Given the description of an element on the screen output the (x, y) to click on. 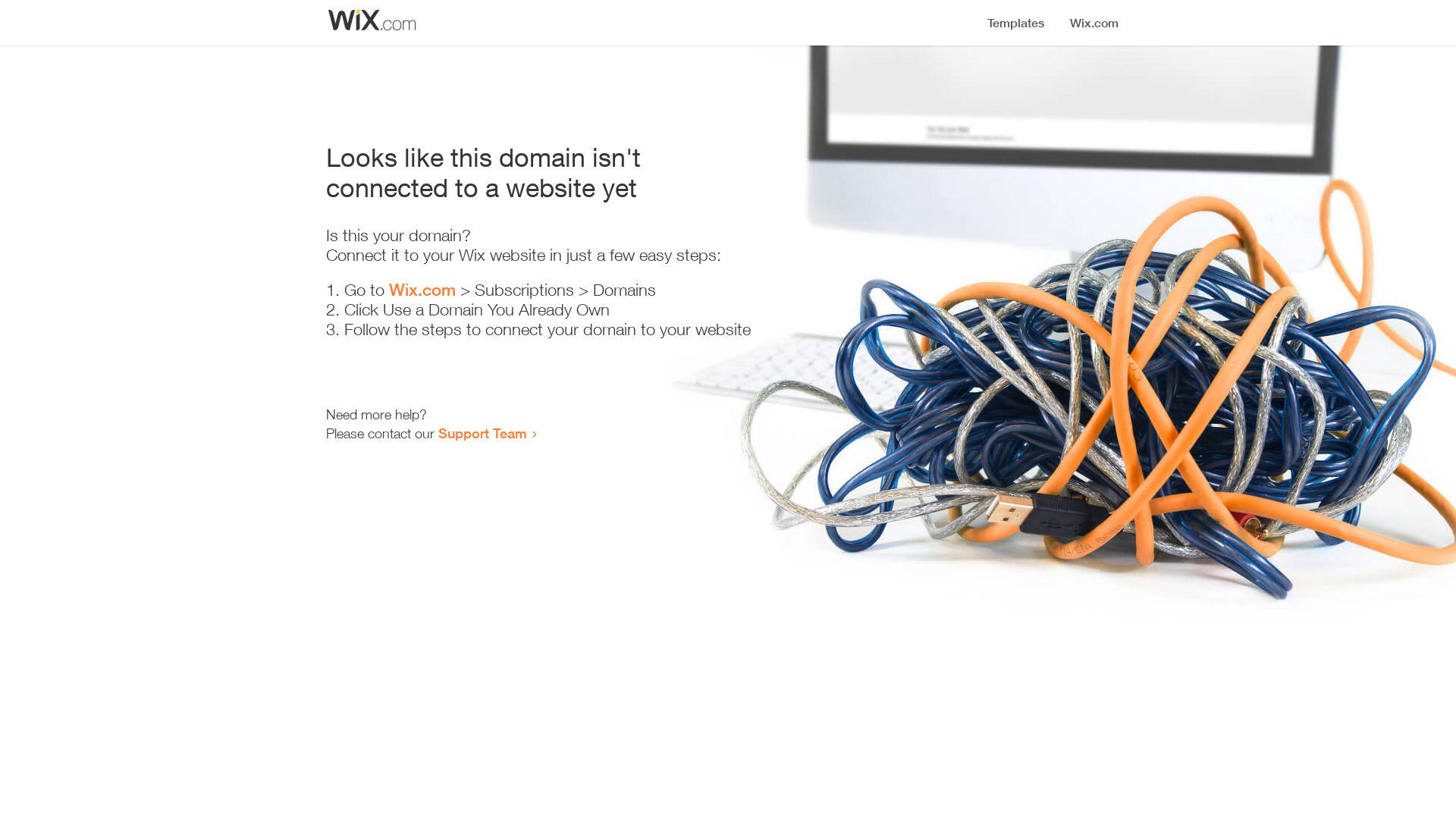
Support Team Element type: text (482, 432)
Wix.com Element type: text (422, 289)
